Given the description of an element on the screen output the (x, y) to click on. 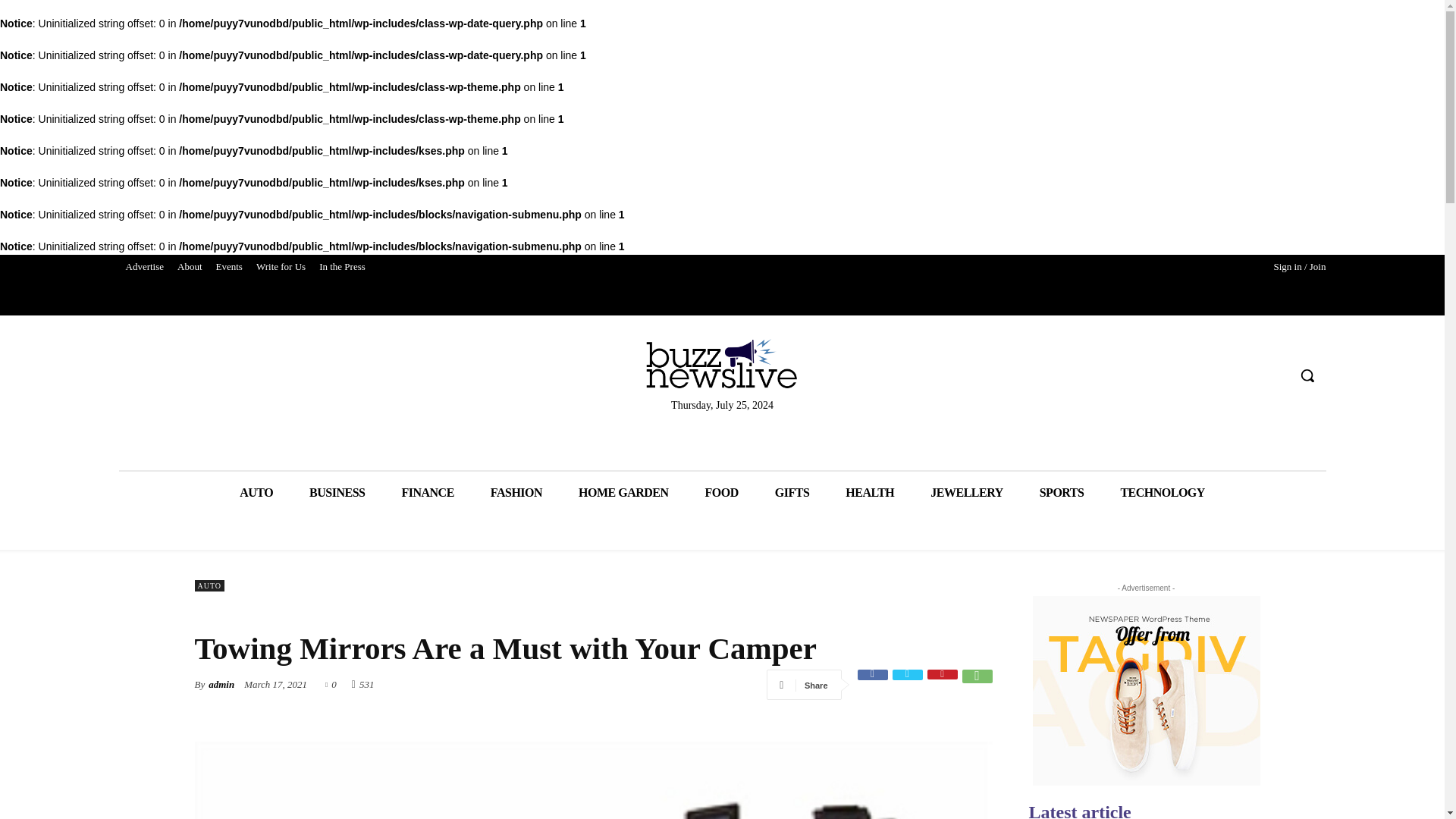
Pinterest (941, 684)
In the Press (342, 266)
FOOD (722, 492)
HOME GARDEN (623, 492)
Facebook (871, 684)
Write for Us (280, 266)
WhatsApp (975, 684)
AUTO (256, 492)
Twitter (906, 684)
SPORTS (1062, 492)
GIFTS (792, 492)
About (189, 266)
FASHION (515, 492)
FINANCE (426, 492)
HEALTH (869, 492)
